Given the description of an element on the screen output the (x, y) to click on. 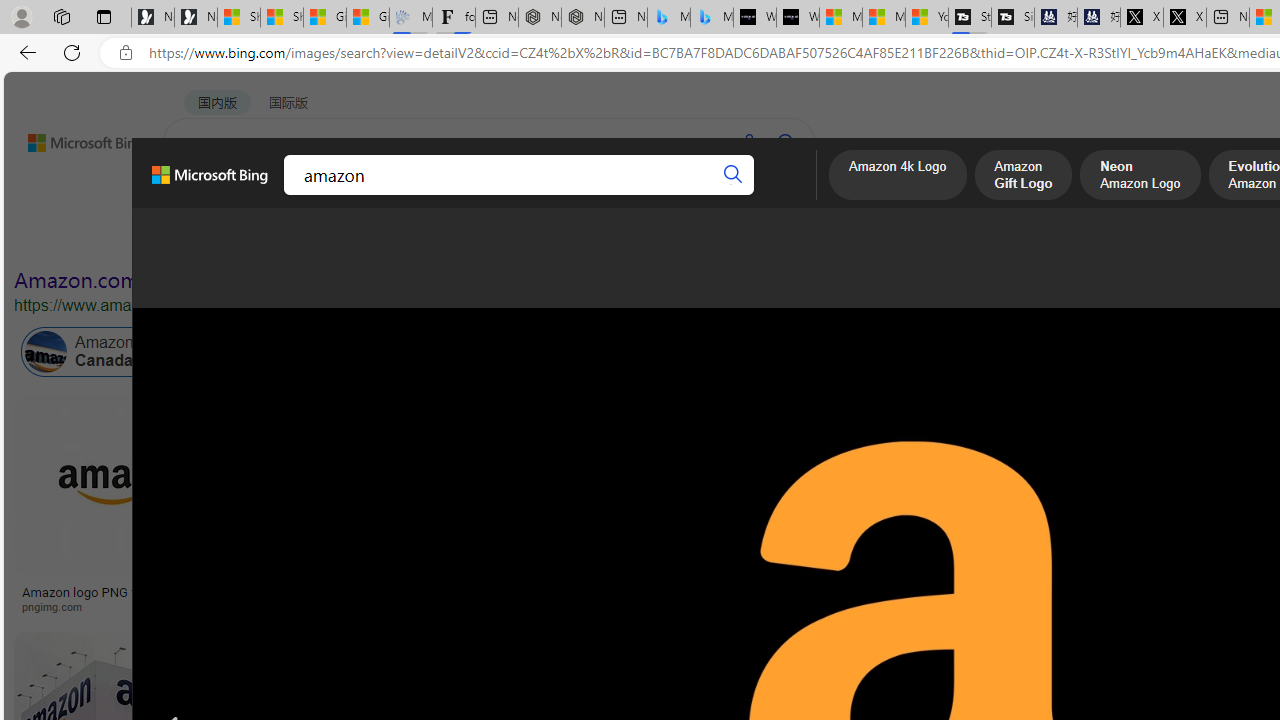
Amazon Labor Law Violation in California (993, 351)
Listen: What's next for Amazon? (653, 592)
Shanghai, China weather forecast | Microsoft Weather (282, 17)
Amazon Logo Png Hd Wallpaper | Images and Photos finder (903, 598)
Amazon.com. Spend less. Smile more. (195, 280)
Amazon Canada Online (45, 351)
Amazon India (893, 351)
MAPS (698, 195)
DICT (630, 195)
Microsoft Bing, Back to Bing search (209, 183)
Type (372, 237)
VIDEOS (458, 195)
